Given the description of an element on the screen output the (x, y) to click on. 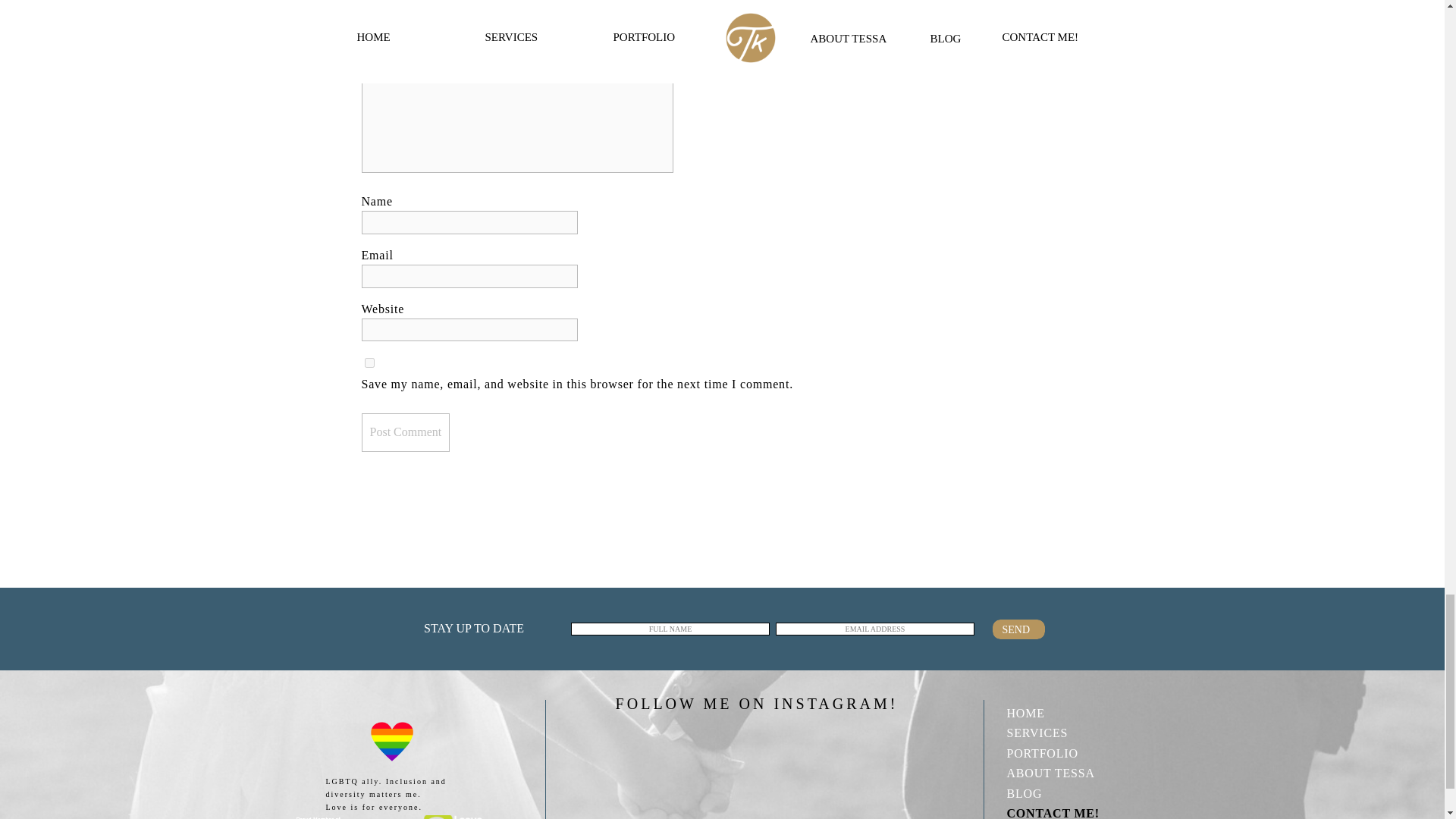
Post Comment (405, 432)
yes (369, 362)
Post Comment (405, 432)
CONTACT ME! (1064, 811)
PORTFOLIO (1064, 752)
SERVICES (1064, 732)
SEND (1019, 629)
HOME (1064, 711)
ABOUT TESSA (1064, 772)
BLOG (1064, 792)
FOLLOW ME ON INSTAGRAM! (756, 700)
